Given the description of an element on the screen output the (x, y) to click on. 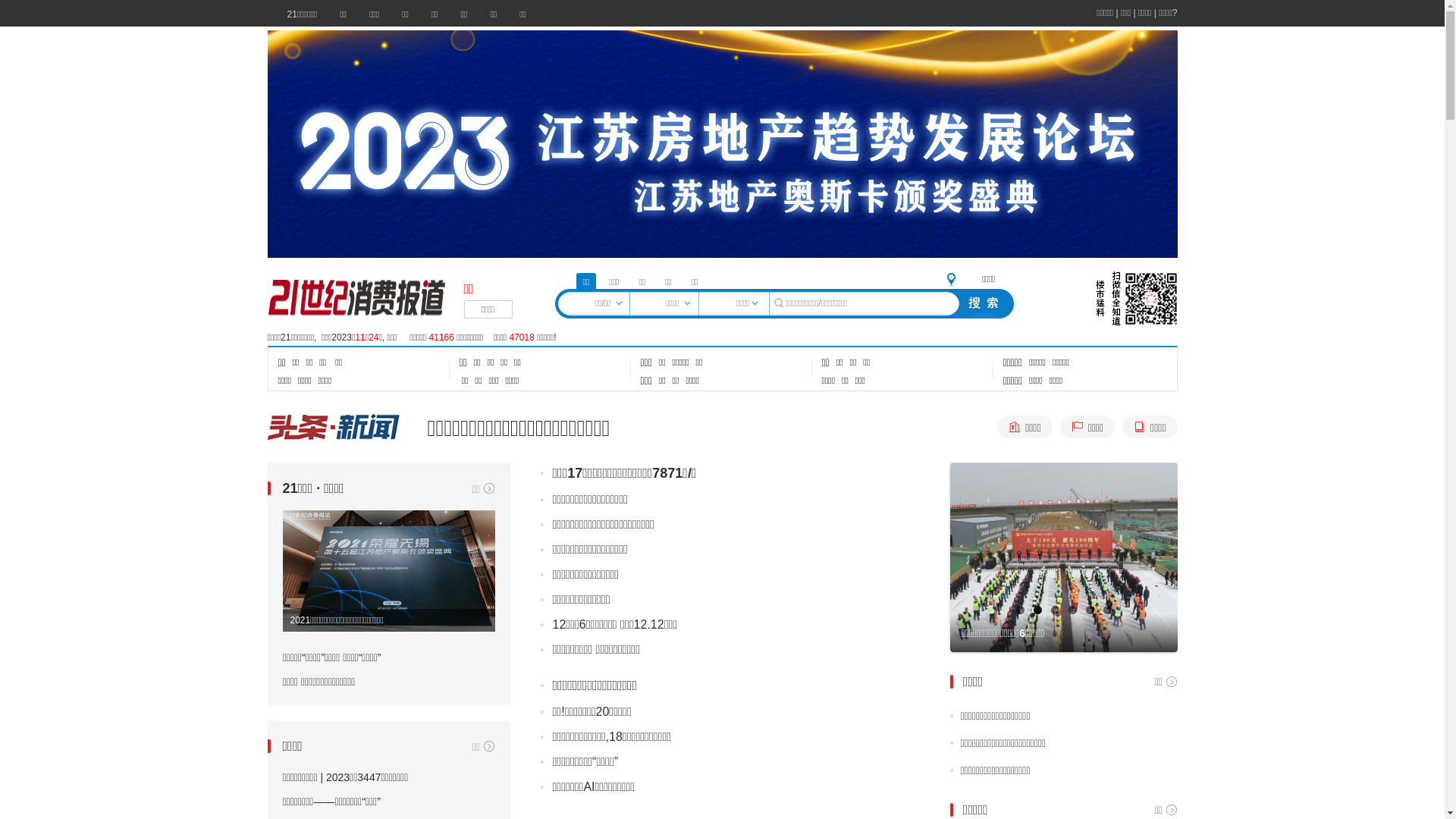
6 Element type: text (1106, 609)
3 Element type: text (1055, 609)
2 Element type: text (1036, 609)
4 Element type: text (1071, 609)
5 Element type: text (1089, 609)
1 Element type: text (1020, 609)
